Given the description of an element on the screen output the (x, y) to click on. 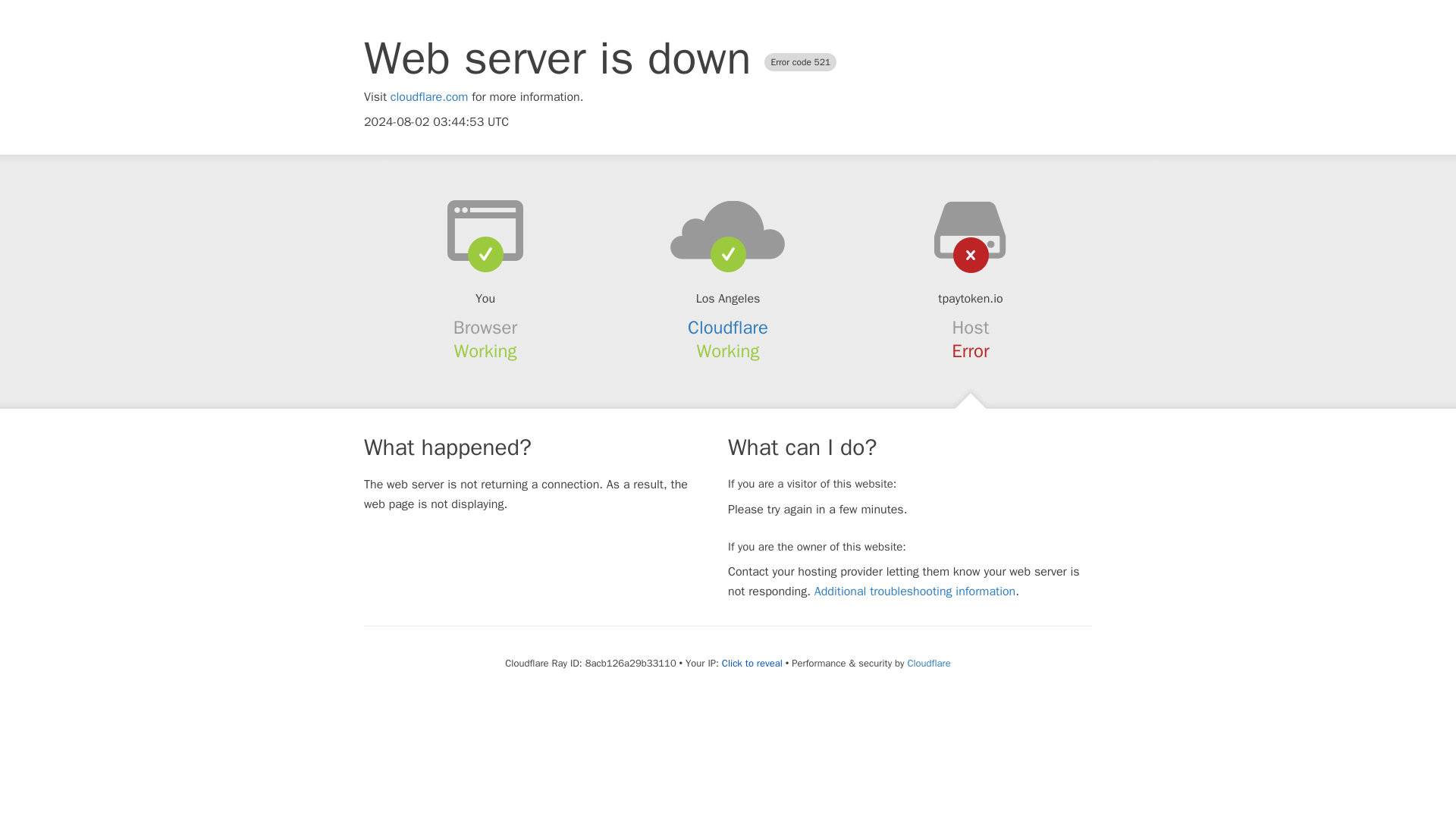
Cloudflare (727, 327)
Cloudflare (928, 662)
Click to reveal (752, 663)
Additional troubleshooting information (913, 590)
cloudflare.com (429, 96)
